Given the description of an element on the screen output the (x, y) to click on. 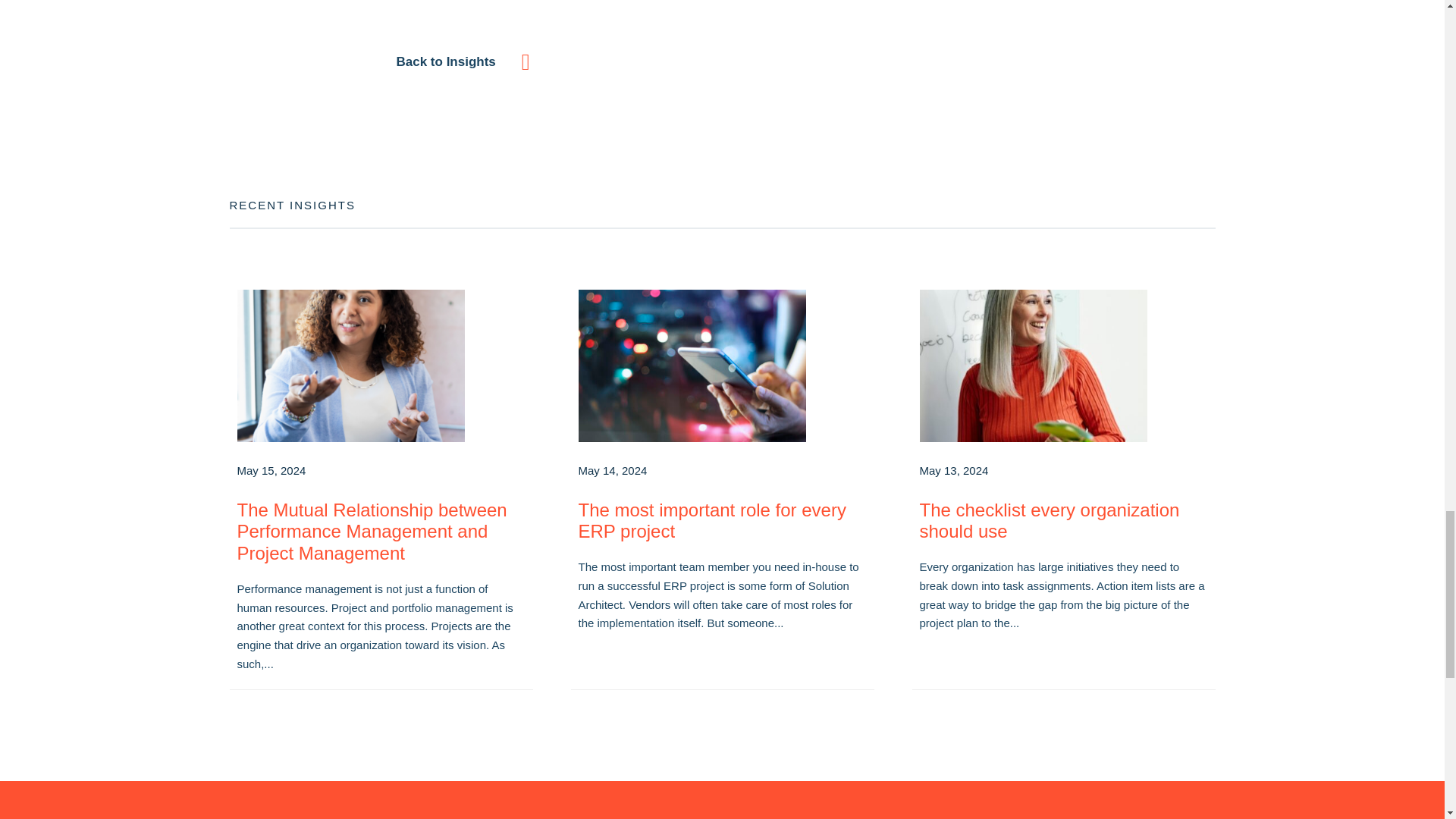
The checklist every organization should use (1048, 520)
The checklist every organization should use (1062, 365)
The most important role for every ERP project (711, 520)
The most important role for every ERP project (722, 365)
